Given the description of an element on the screen output the (x, y) to click on. 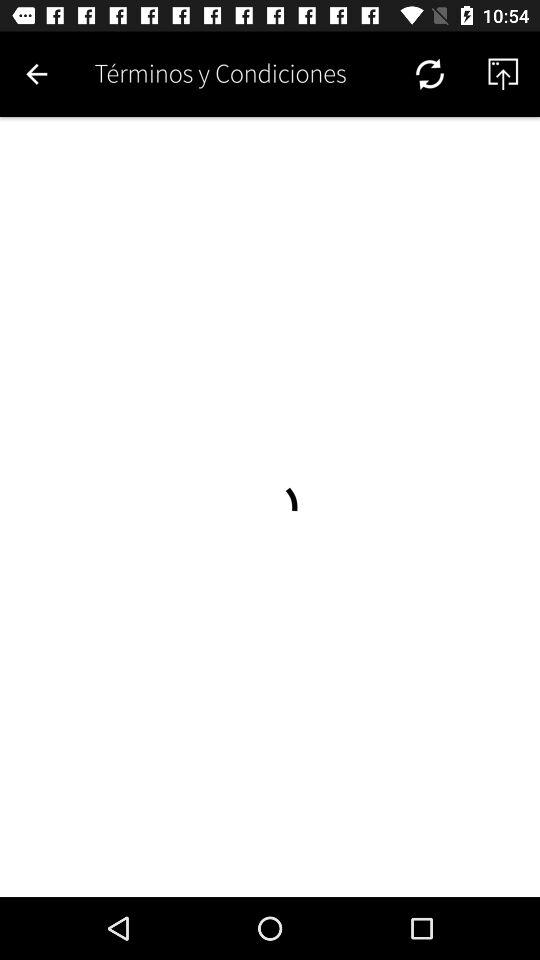
return to the previous screen (36, 74)
